Given the description of an element on the screen output the (x, y) to click on. 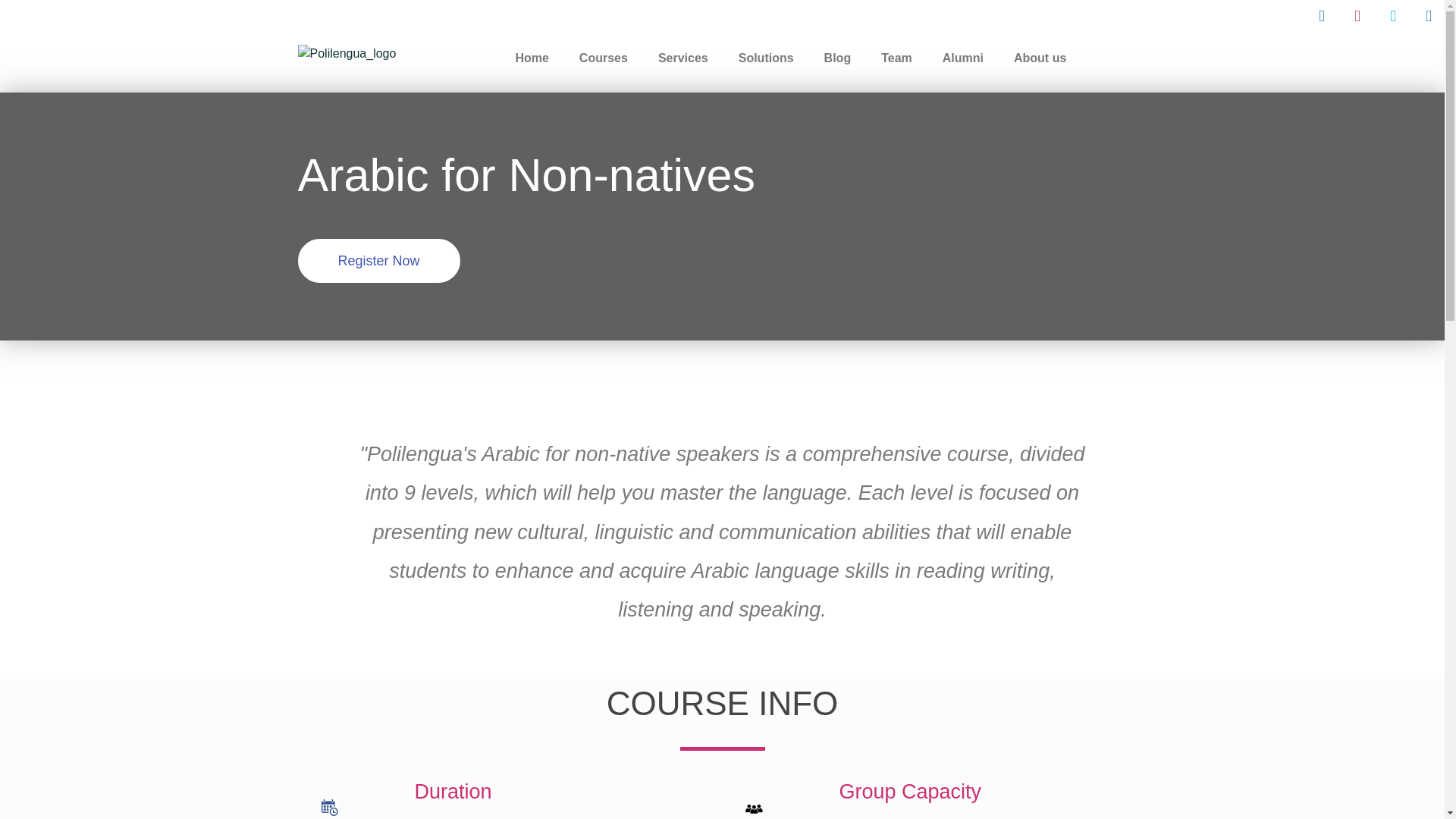
Courses (603, 57)
About us (1040, 57)
Blog (837, 57)
Solutions (766, 57)
Alumni (962, 57)
Team (896, 57)
Home (531, 57)
Services (683, 57)
